Given the description of an element on the screen output the (x, y) to click on. 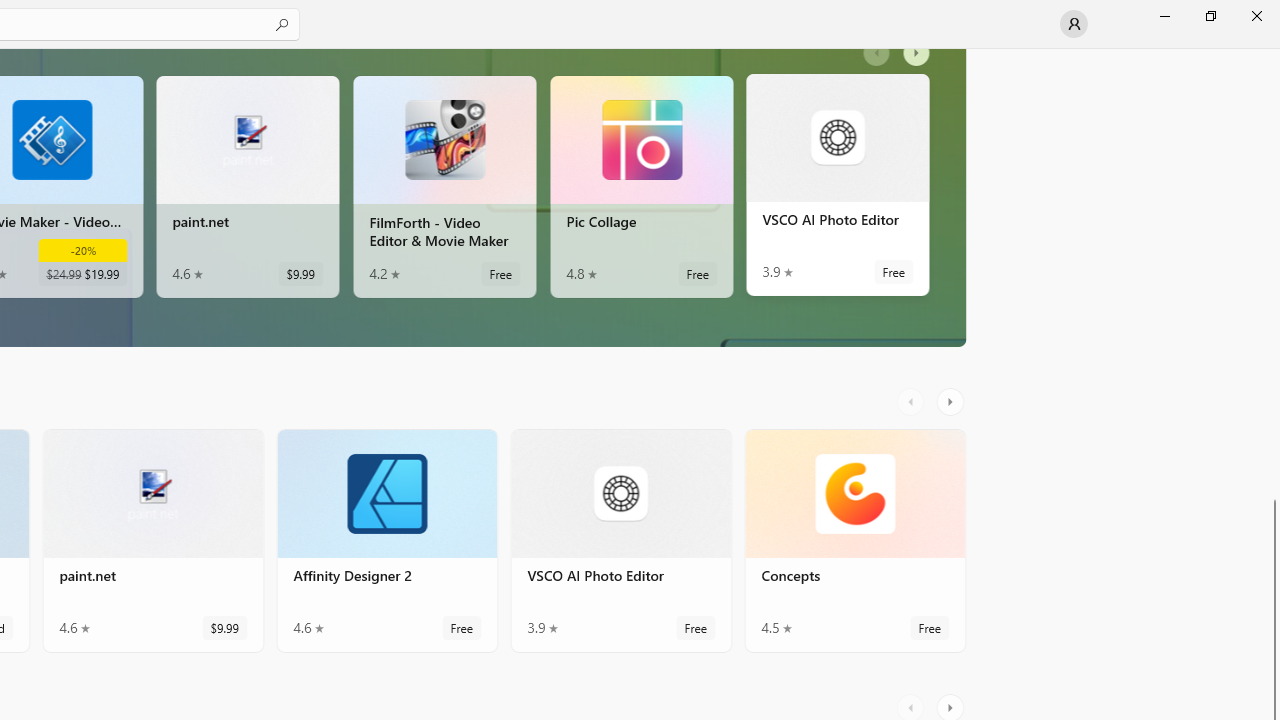
AutomationID: RightScrollButton (952, 206)
Vertical Small Decrease (1272, 55)
AutomationID: LeftScrollButton (913, 206)
Vertical Large Decrease (1272, 254)
Pic Collage. Average rating of 4.8 out of five stars. Free   (641, 191)
Concepts. Average rating of 4.5 out of five stars. Free   (854, 548)
